Given the description of an element on the screen output the (x, y) to click on. 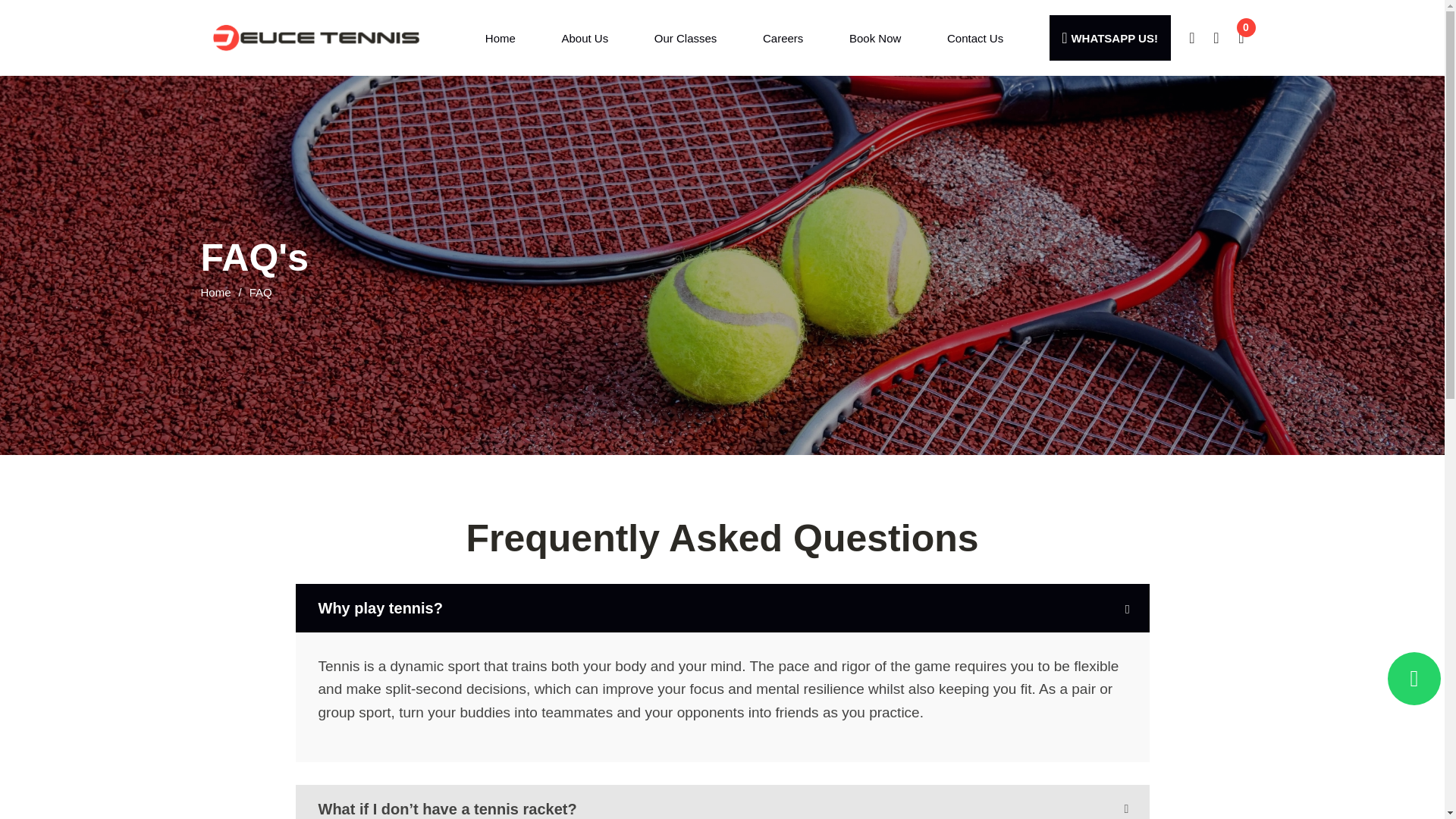
Home (215, 291)
WHATSAPP US! (1109, 37)
Why play tennis? (722, 607)
0 (1241, 37)
Home (499, 38)
About Us (584, 38)
Careers (782, 38)
Our Classes (685, 38)
Book Now (874, 38)
Contact Us (975, 38)
